Given the description of an element on the screen output the (x, y) to click on. 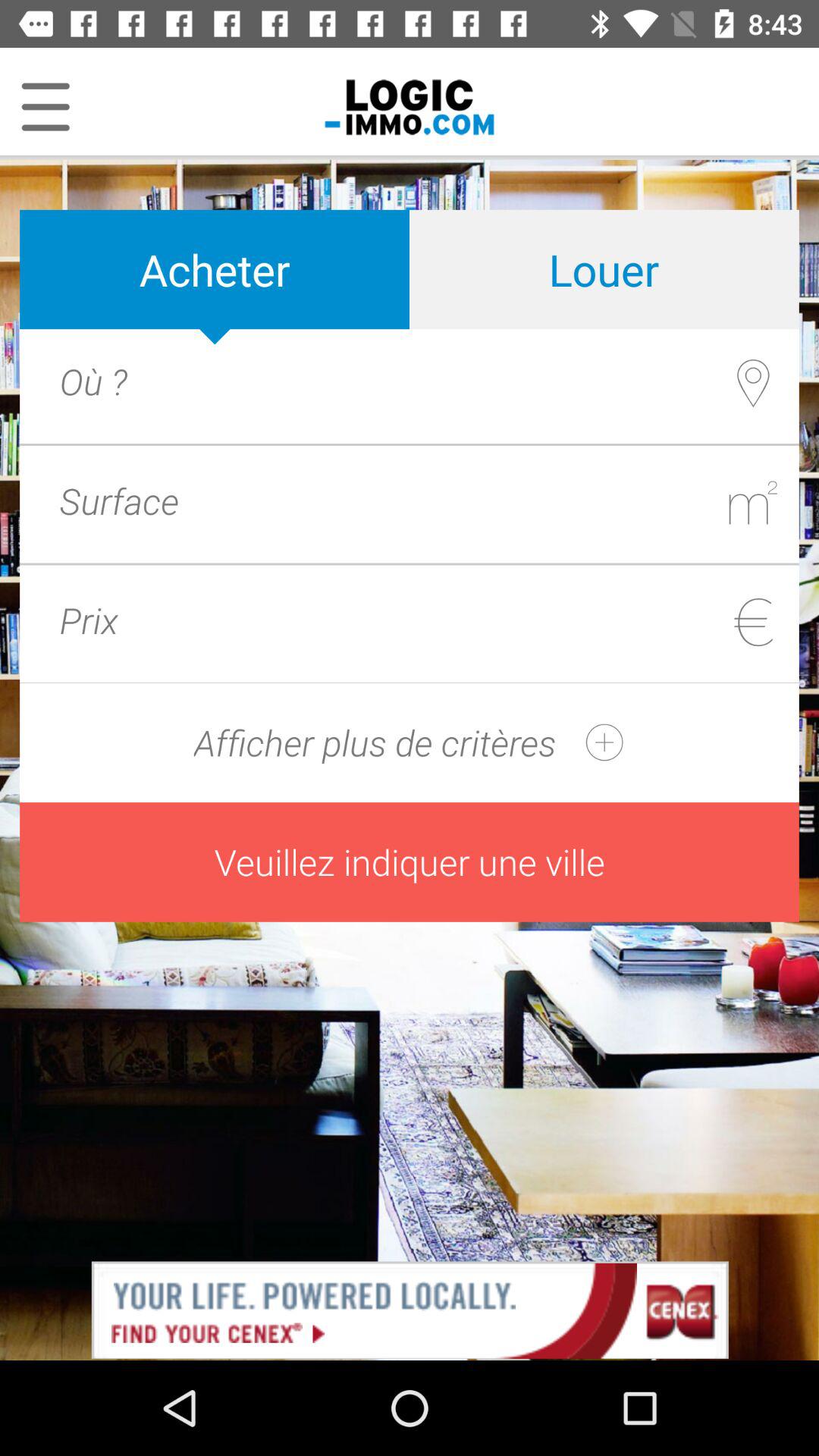
location box (441, 381)
